Given the description of an element on the screen output the (x, y) to click on. 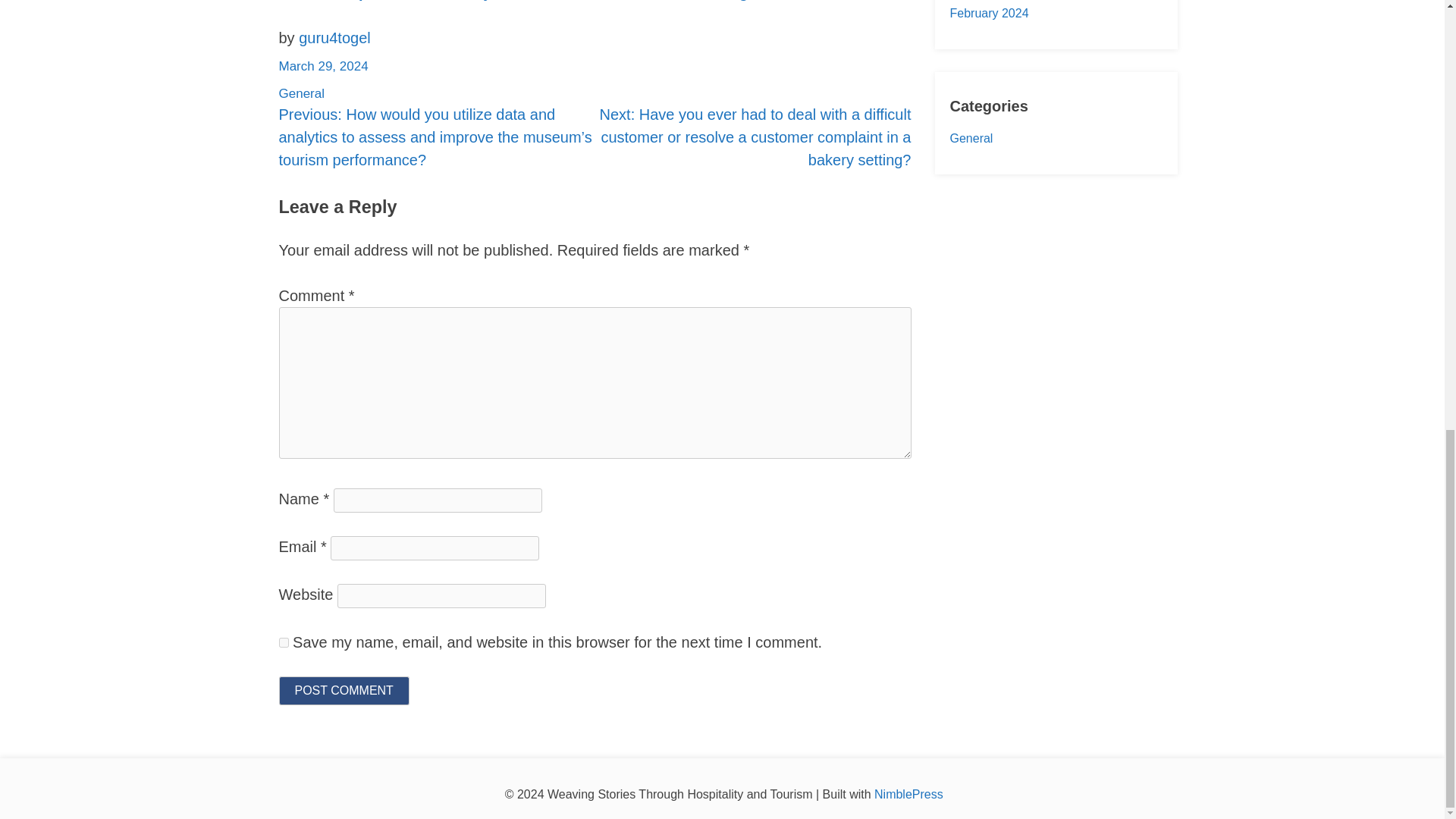
General (970, 137)
guru4togel (334, 37)
General (301, 93)
NimblePress (909, 794)
Post Comment (344, 690)
February 2024 (988, 12)
March 29, 2024 (323, 65)
Post Comment (344, 690)
yes (283, 642)
